Given the description of an element on the screen output the (x, y) to click on. 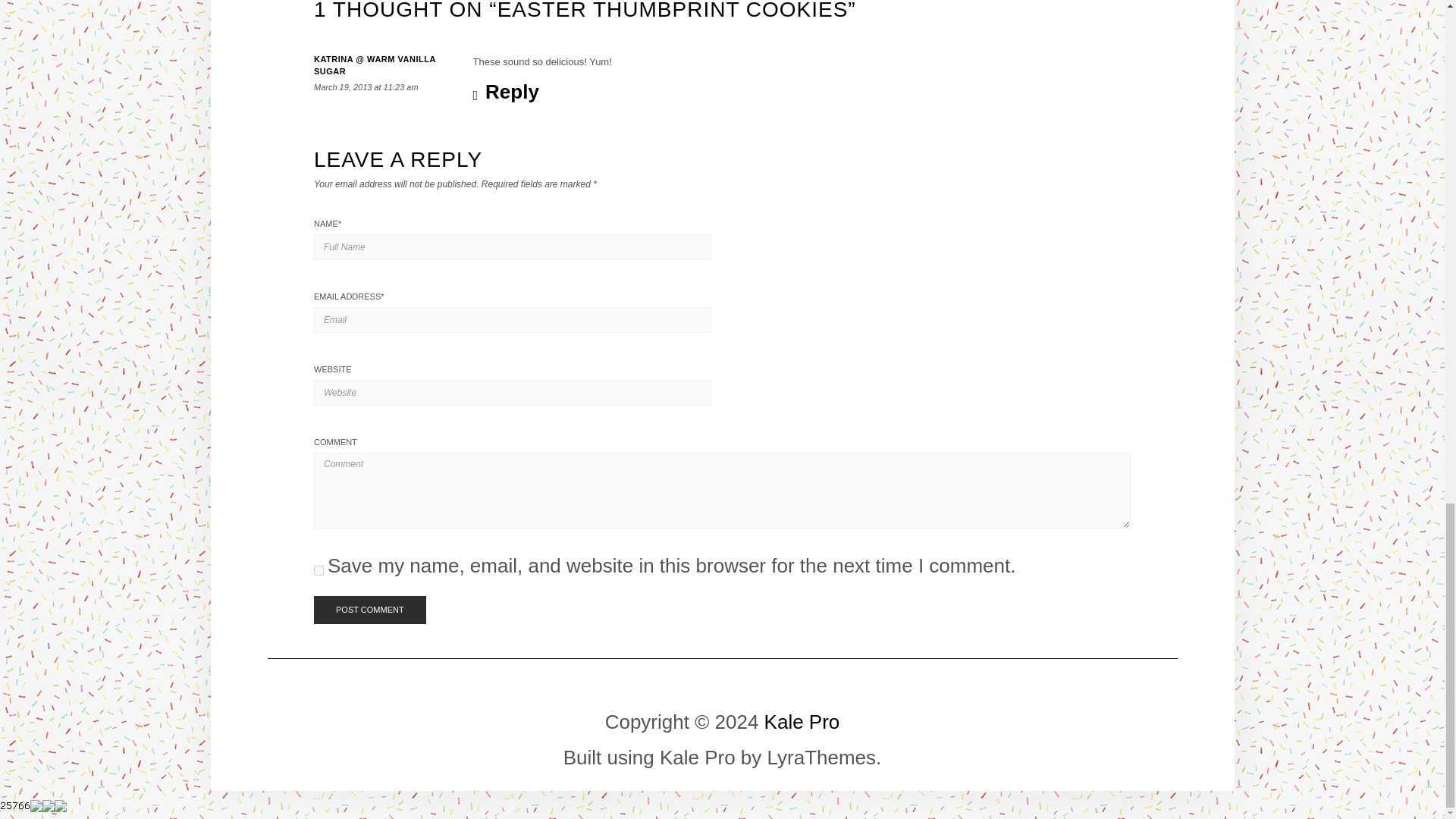
yes (318, 570)
March 19, 2013 at 11:23 am (366, 86)
Reply (505, 91)
Kale Pro (802, 721)
Post Comment (370, 610)
Post Comment (370, 610)
